Given the description of an element on the screen output the (x, y) to click on. 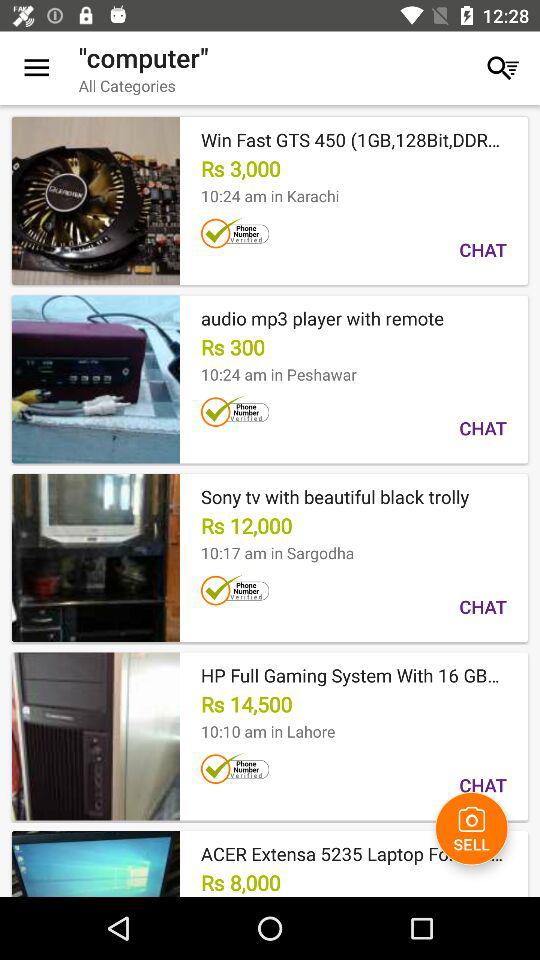
tap the item next to "computer" icon (36, 68)
